Given the description of an element on the screen output the (x, y) to click on. 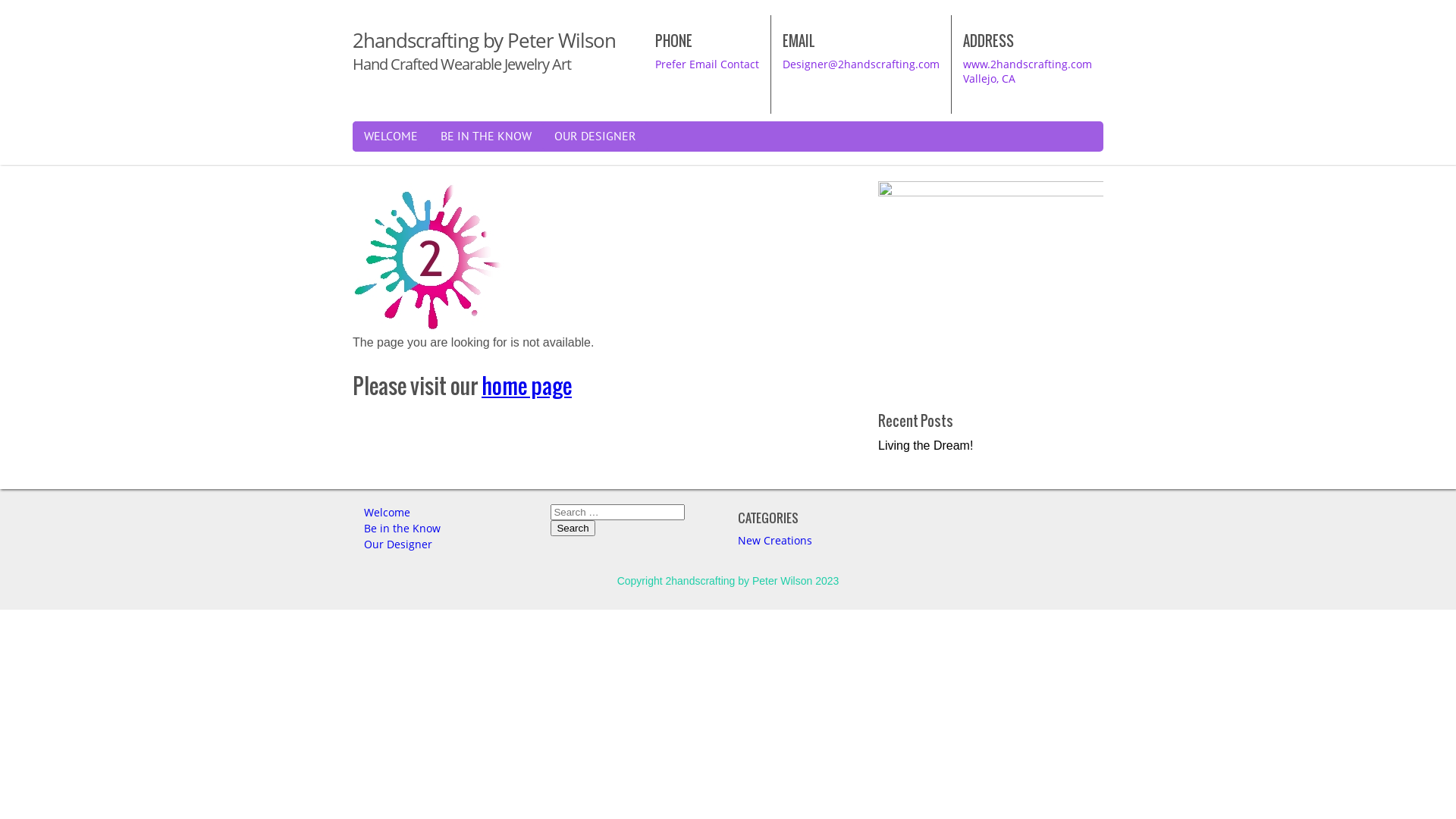
OUR DESIGNER Element type: text (594, 136)
Search Element type: text (572, 528)
Living the Dream! Element type: text (925, 445)
BE IN THE KNOW Element type: text (485, 136)
WELCOME Element type: text (390, 136)
Designer@2handscrafting.com Element type: text (860, 63)
home page Element type: text (526, 385)
Be in the Know Element type: text (402, 527)
Prefer Email Contact Element type: text (707, 63)
New Creations Element type: text (774, 540)
Welcome Element type: text (387, 512)
Our Designer Element type: text (398, 543)
